Given the description of an element on the screen output the (x, y) to click on. 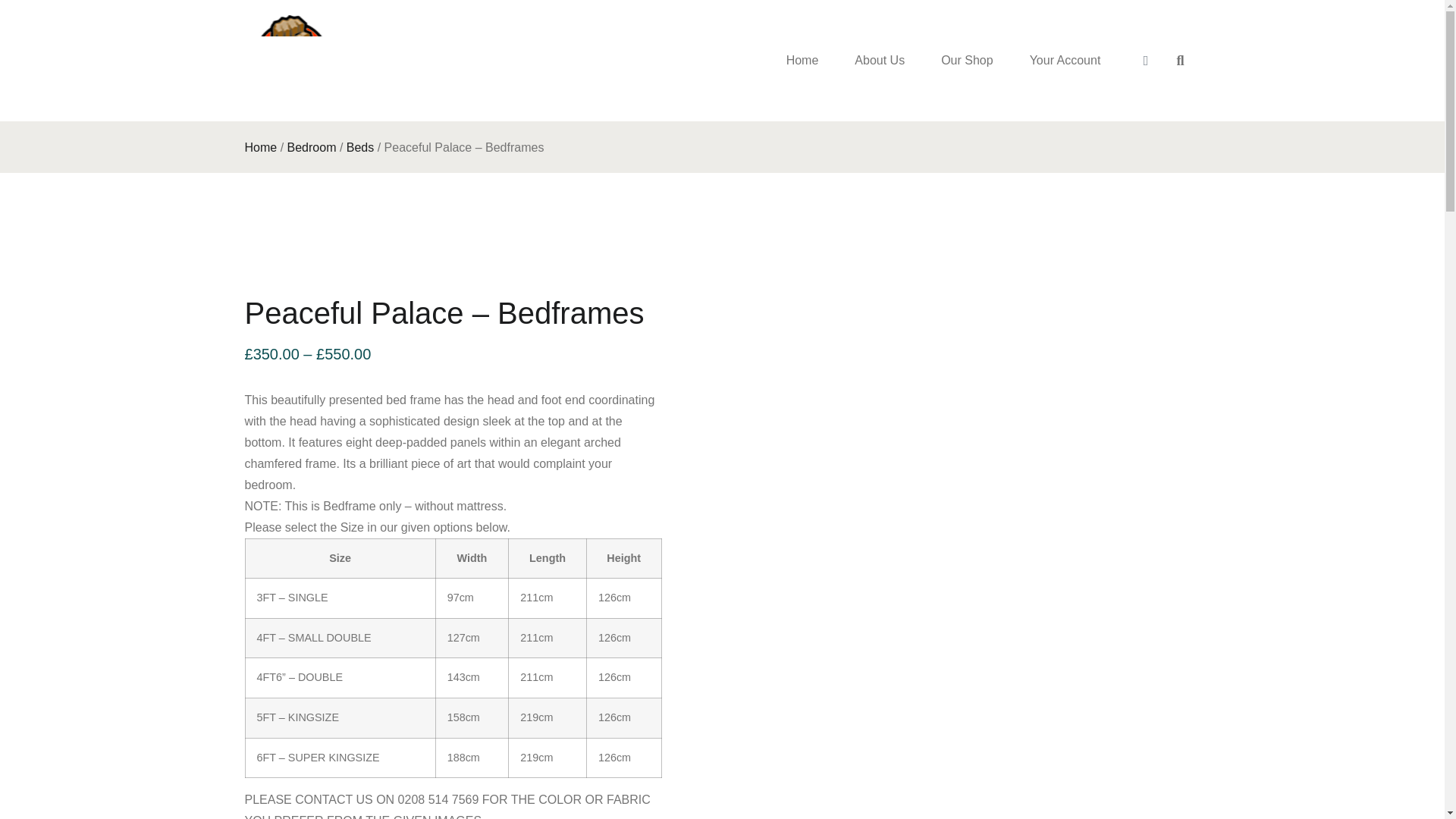
About Us (879, 59)
Your Account (1065, 59)
Bedroom (311, 146)
Home (260, 146)
Our Shop (966, 59)
Beds (360, 146)
Home (802, 59)
